Given the description of an element on the screen output the (x, y) to click on. 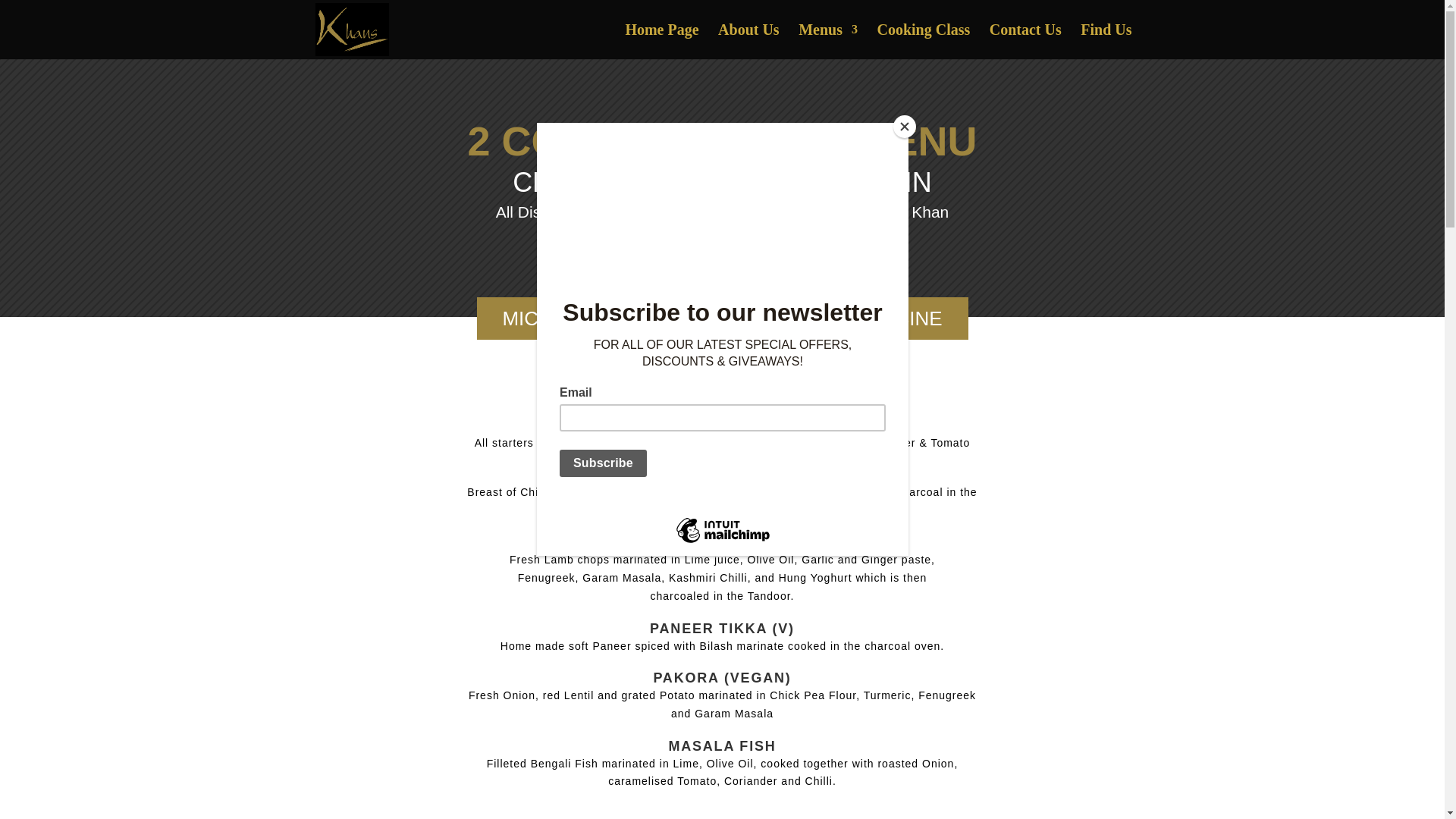
Find Us (1105, 41)
Home Page (661, 41)
About Us (747, 41)
Menus (827, 41)
Cooking Class (922, 41)
Contact Us (1025, 41)
